Given the description of an element on the screen output the (x, y) to click on. 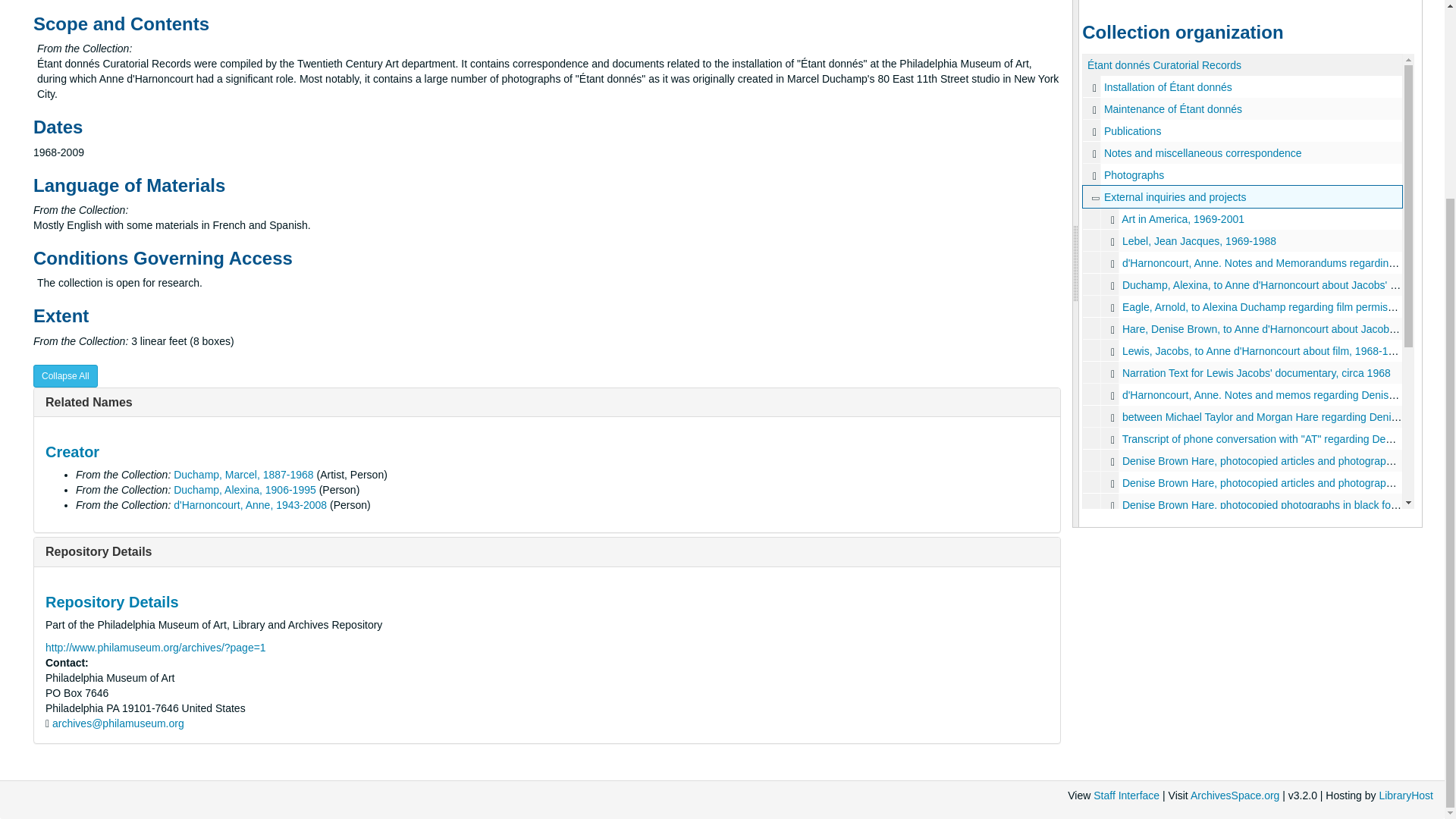
Photographs (1133, 174)
Lewis, Jacobs, to Anne d'Harnoncourt about film (1242, 350)
Related Names (88, 401)
Repository Details (98, 551)
Photographs (1093, 174)
Publications (1132, 131)
Send email (118, 723)
External inquiries and projects (1174, 196)
Narration Text for Lewis Jacobs' documentary (1242, 372)
Duchamp, Alexina, to Anne d'Harnoncourt about Jacobs' film (1242, 284)
Notes and miscellaneous correspondence (1093, 152)
Notes and miscellaneous correspondence (1242, 152)
Publications (1093, 130)
